Given the description of an element on the screen output the (x, y) to click on. 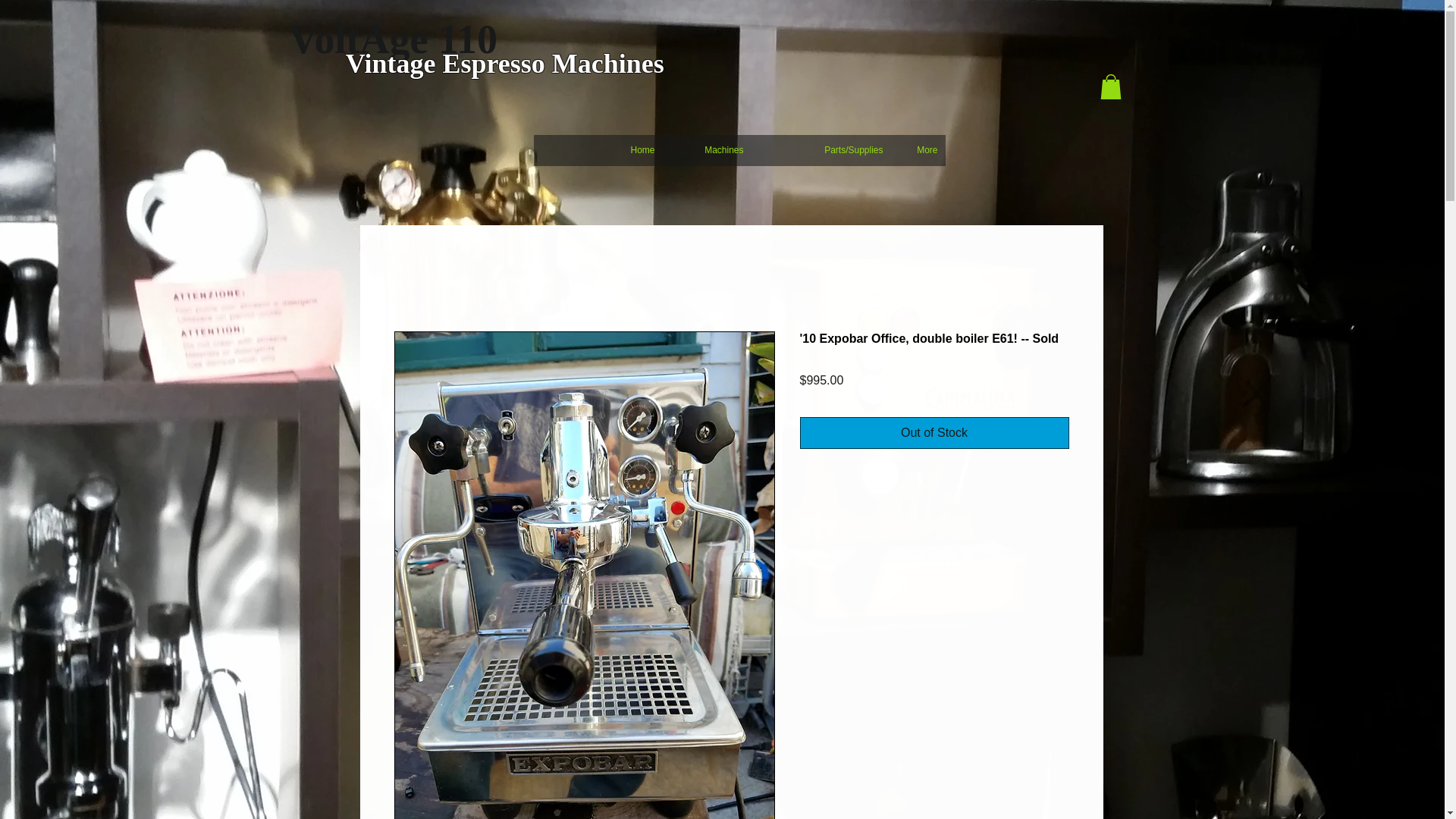
Home (634, 155)
Machines (706, 155)
 Vintage Espresso Machines   (508, 62)
VoltAge 110 (392, 38)
Out of Stock (933, 432)
